Given the description of an element on the screen output the (x, y) to click on. 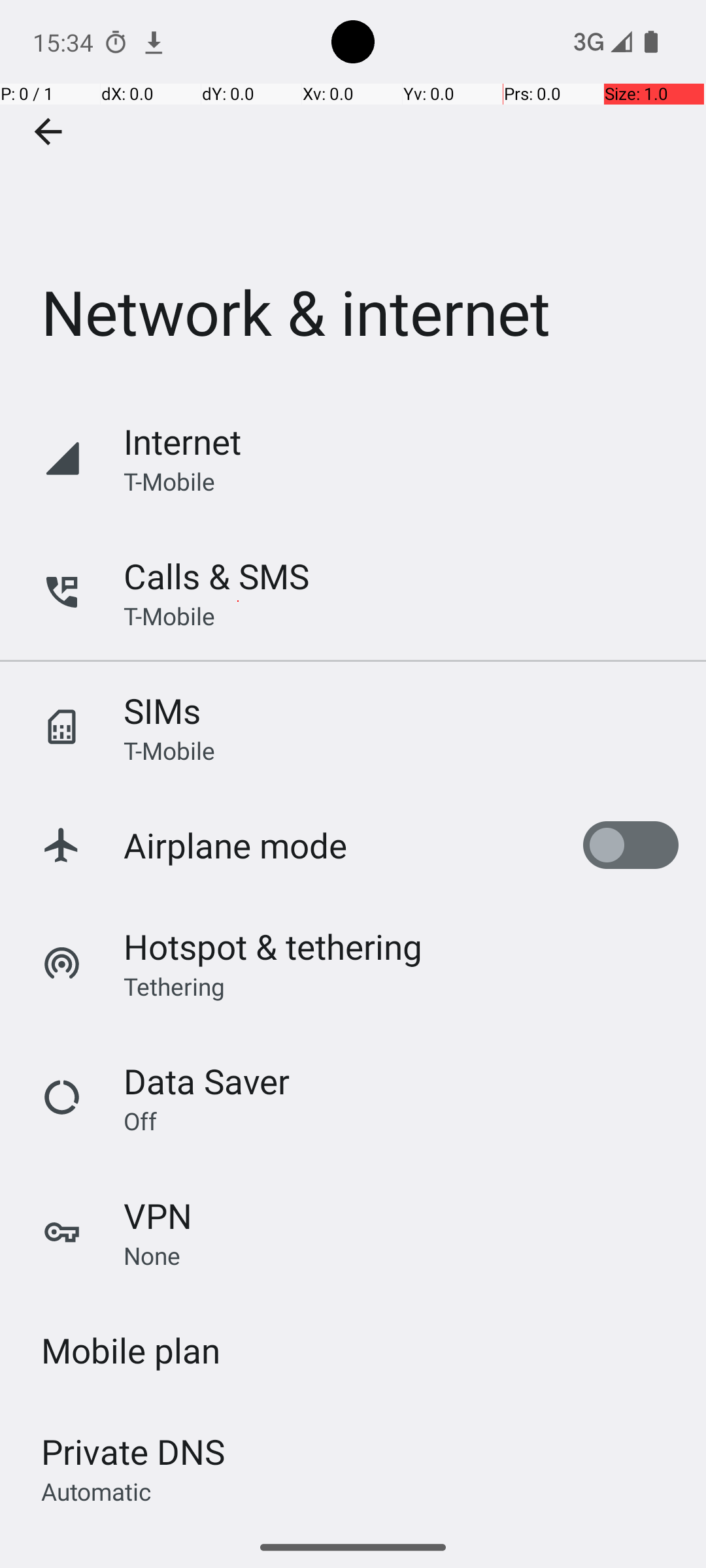
Tethering Element type: android.widget.TextView (174, 985)
